Given the description of an element on the screen output the (x, y) to click on. 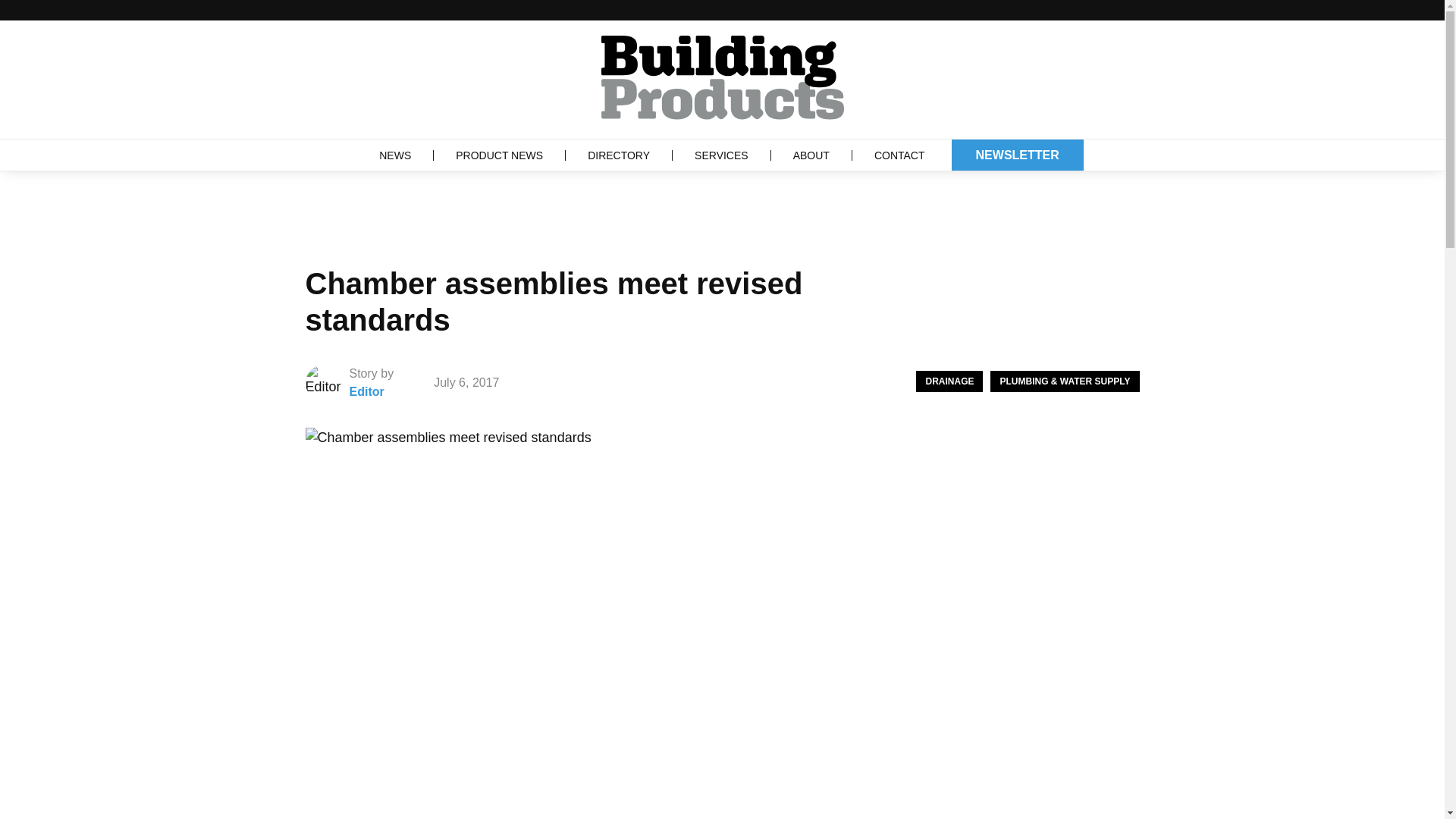
NEWS (394, 154)
Return to the homepage (721, 77)
PRODUCT NEWS (499, 154)
